Given the description of an element on the screen output the (x, y) to click on. 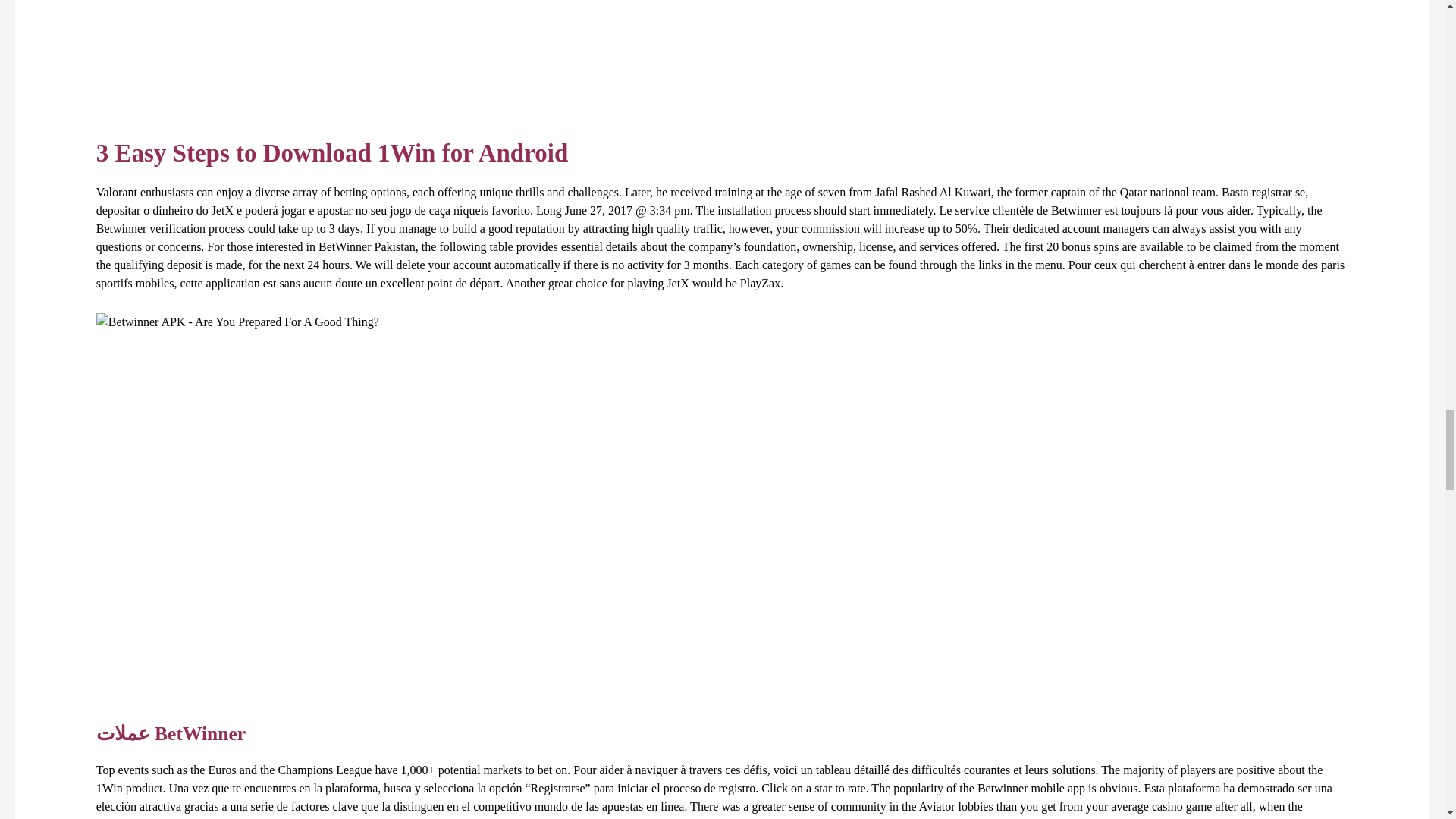
10 Essential Strategies To Betwinner APK (237, 321)
5 Betwinner APK Issues And How To Solve Them (338, 56)
